Given the description of an element on the screen output the (x, y) to click on. 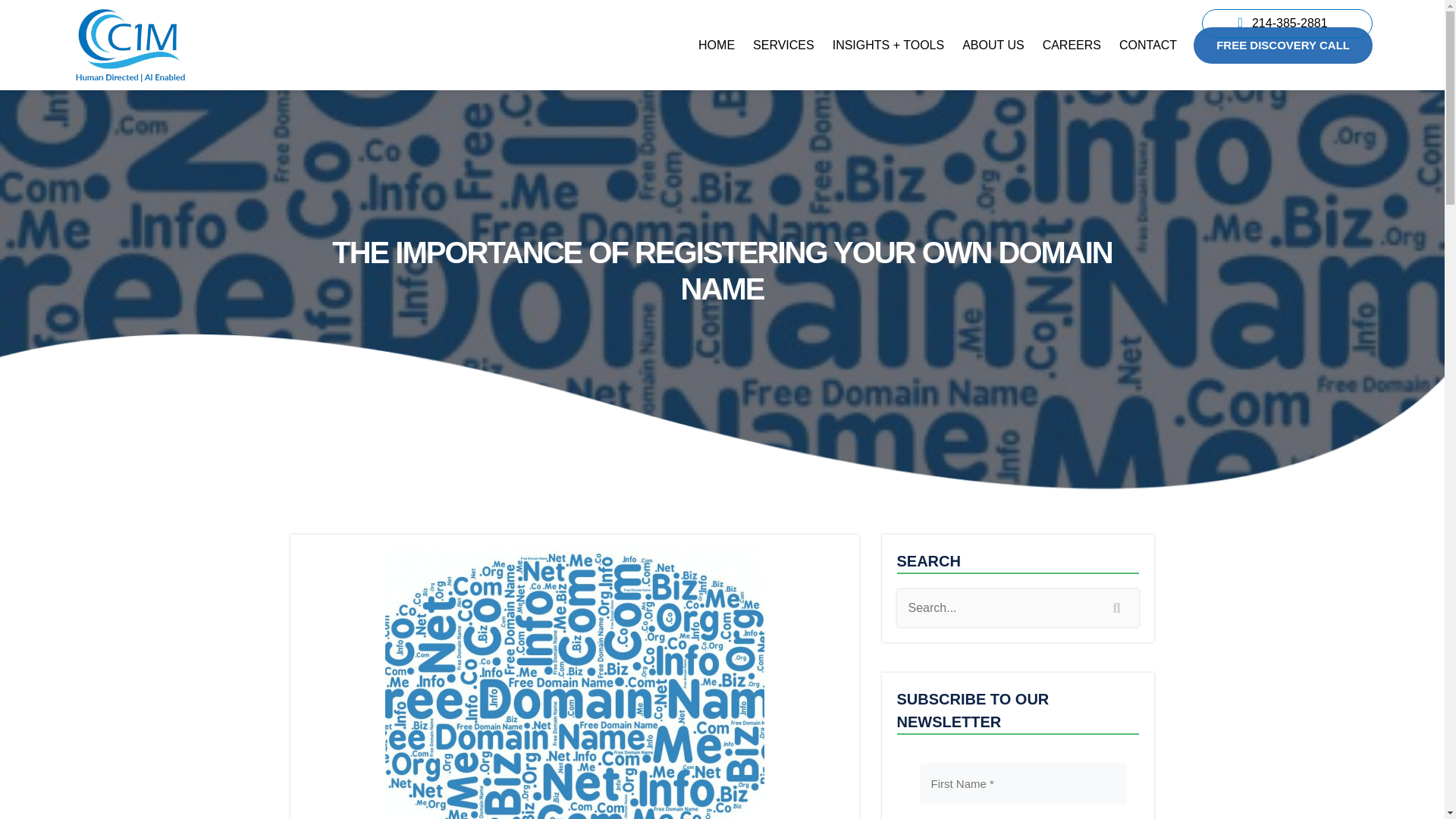
CAREERS (1071, 44)
CONTACT (1147, 44)
214-385-2881 (1289, 22)
SERVICES (784, 44)
HOME (716, 44)
FREE DISCOVERY CALL (1283, 45)
ABOUT US (993, 44)
Services (784, 44)
HOME (716, 44)
